Given the description of an element on the screen output the (x, y) to click on. 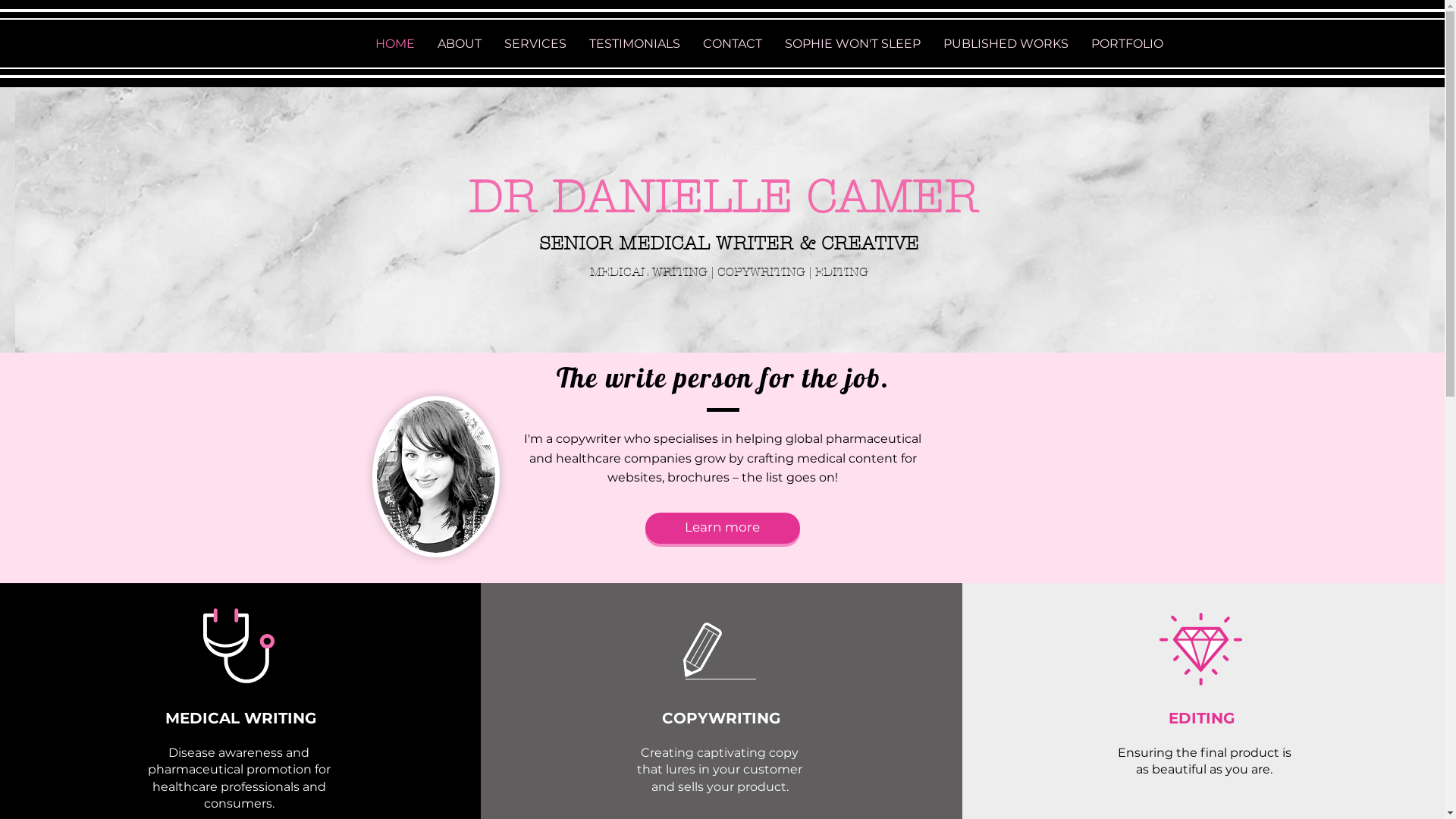
PUBLISHED WORKS Element type: text (1005, 43)
HOME Element type: text (395, 43)
ABOUT Element type: text (459, 43)
Learn more Element type: text (721, 527)
SERVICES Element type: text (534, 43)
PORTFOLIO Element type: text (1126, 43)
TWIPLA (Visitor Analytics) Element type: hover (1125, 265)
SOPHIE WON'T SLEEP Element type: text (852, 43)
TESTIMONIALS Element type: text (634, 43)
CONTACT Element type: text (732, 43)
